Given the description of an element on the screen output the (x, y) to click on. 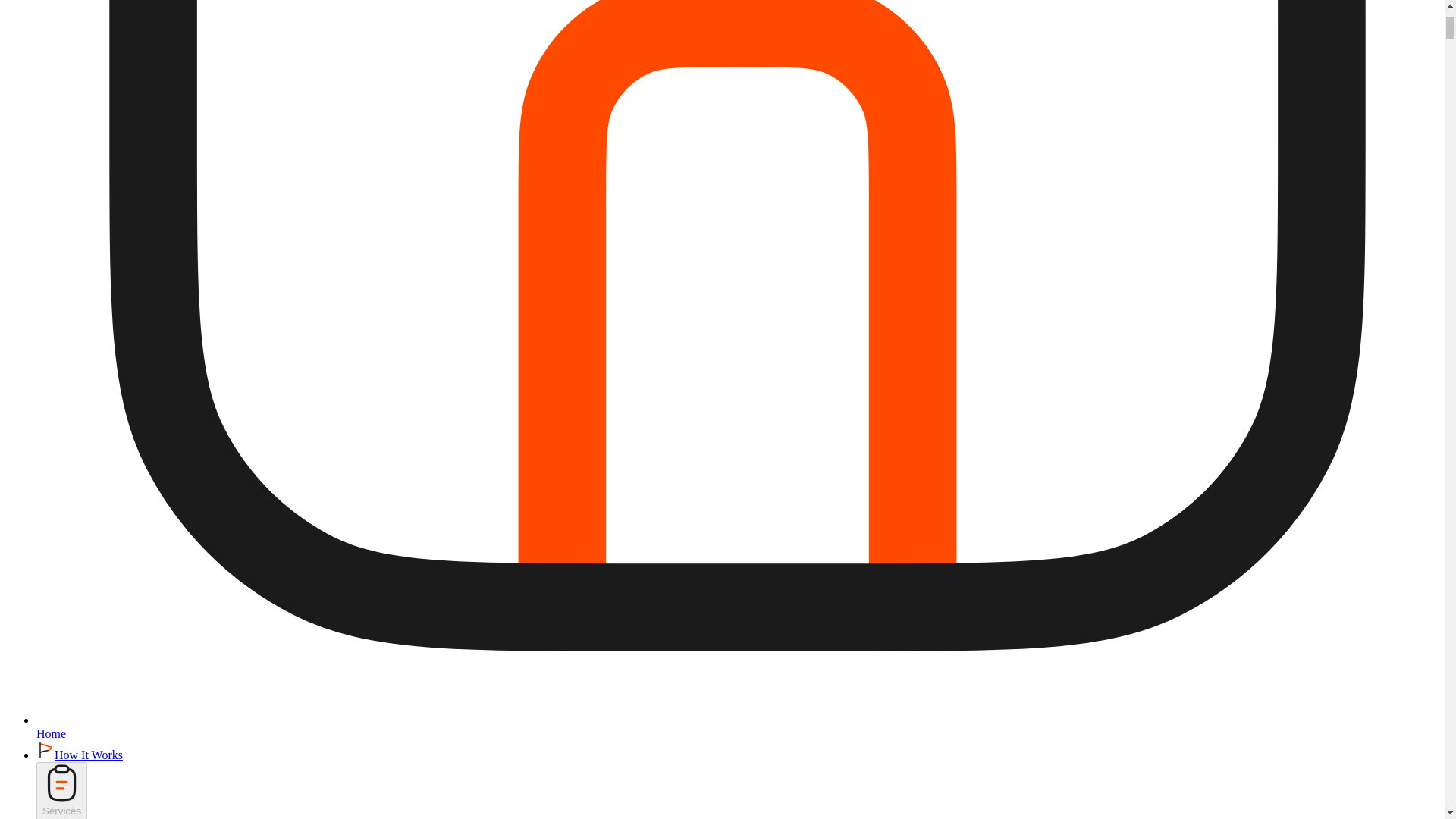
Services (61, 790)
